Given the description of an element on the screen output the (x, y) to click on. 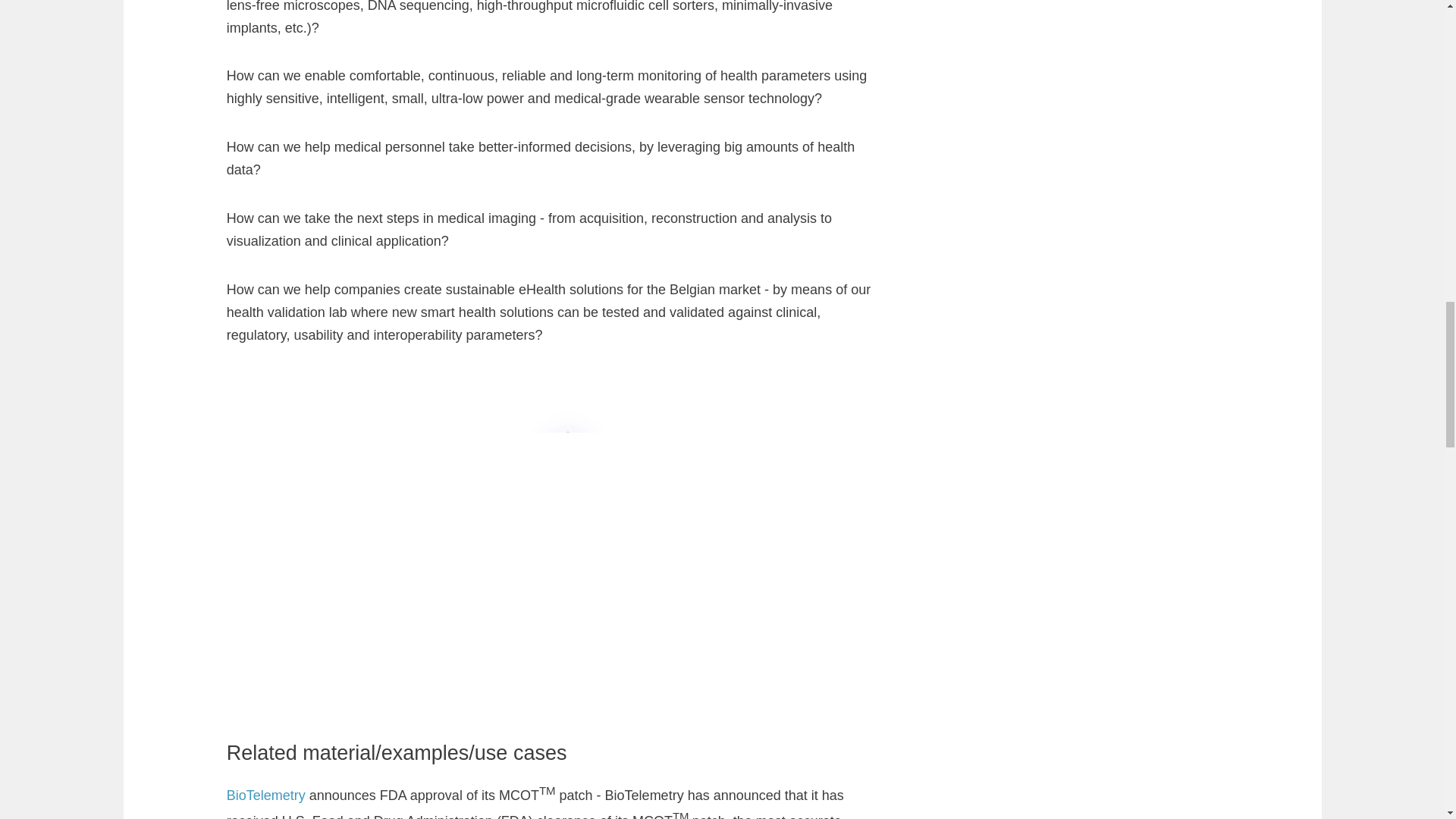
BioTelemetry  (267, 795)
